Given the description of an element on the screen output the (x, y) to click on. 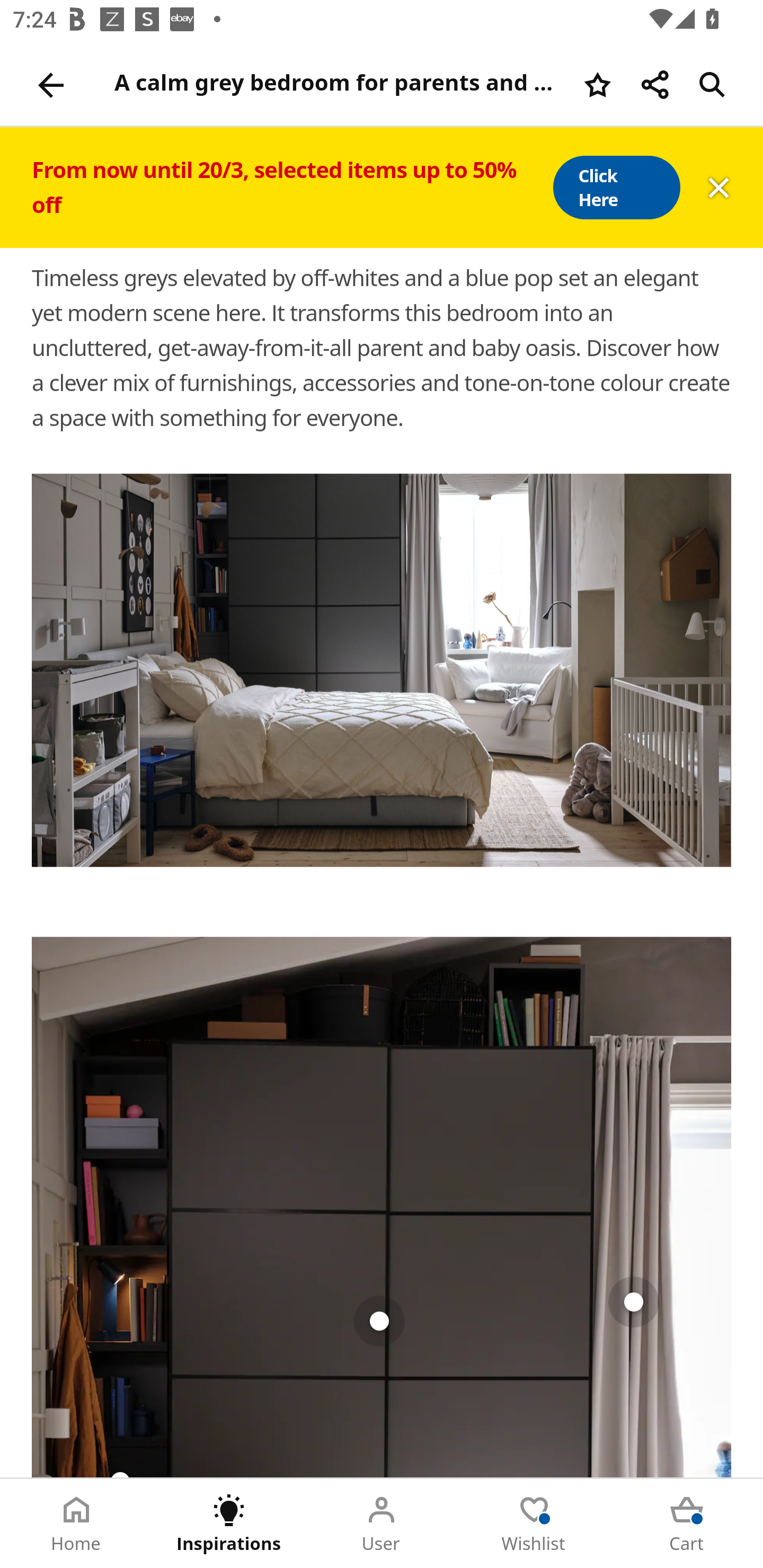
Click Here (615, 187)
Home
Tab 1 of 5 (76, 1522)
Inspirations
Tab 2 of 5 (228, 1522)
User
Tab 3 of 5 (381, 1522)
Wishlist
Tab 4 of 5 (533, 1522)
Cart
Tab 5 of 5 (686, 1522)
